Given the description of an element on the screen output the (x, y) to click on. 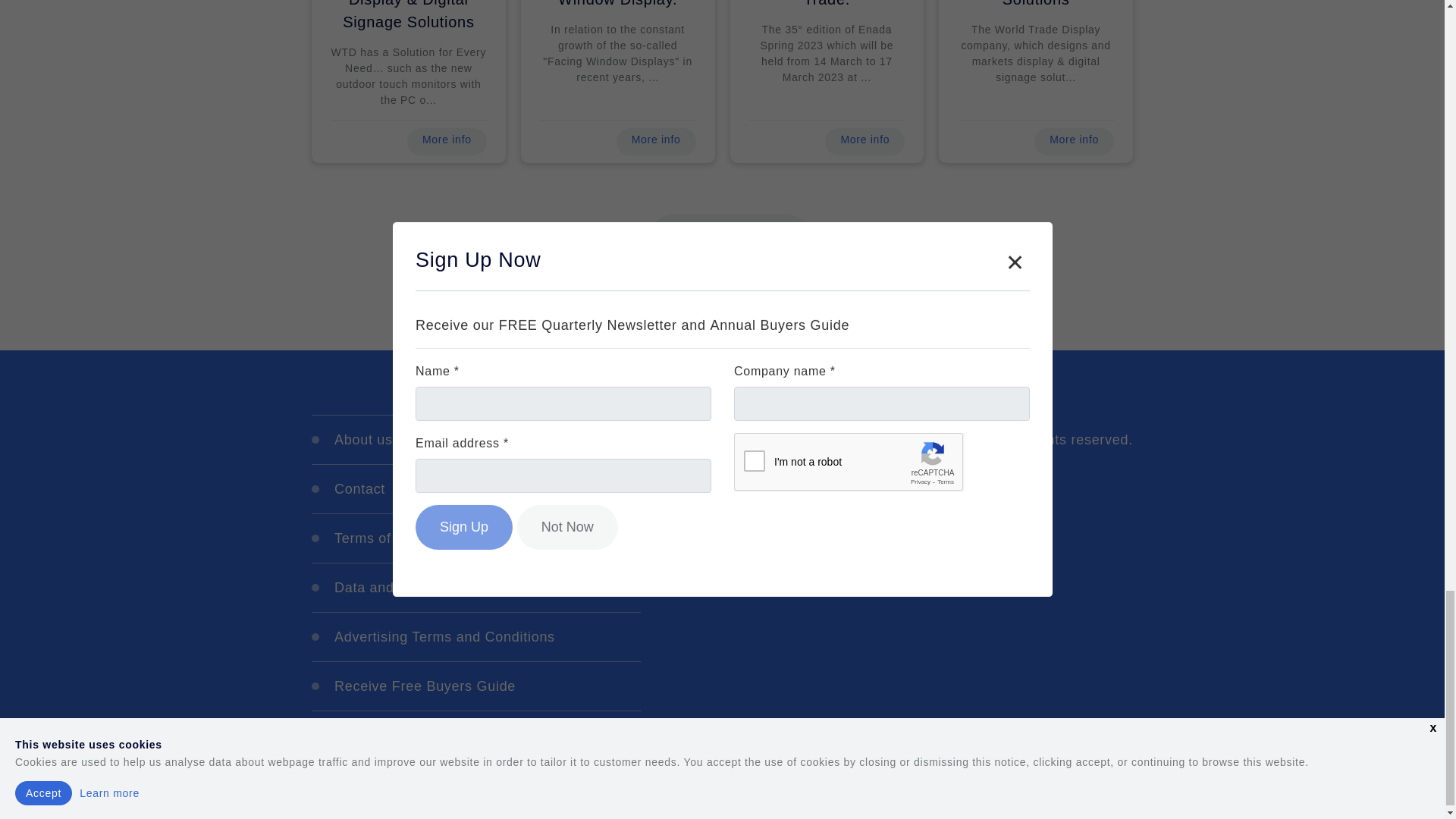
More info (655, 141)
World Trade Launches Facing Window Display. (617, 11)
More info (446, 141)
